Given the description of an element on the screen output the (x, y) to click on. 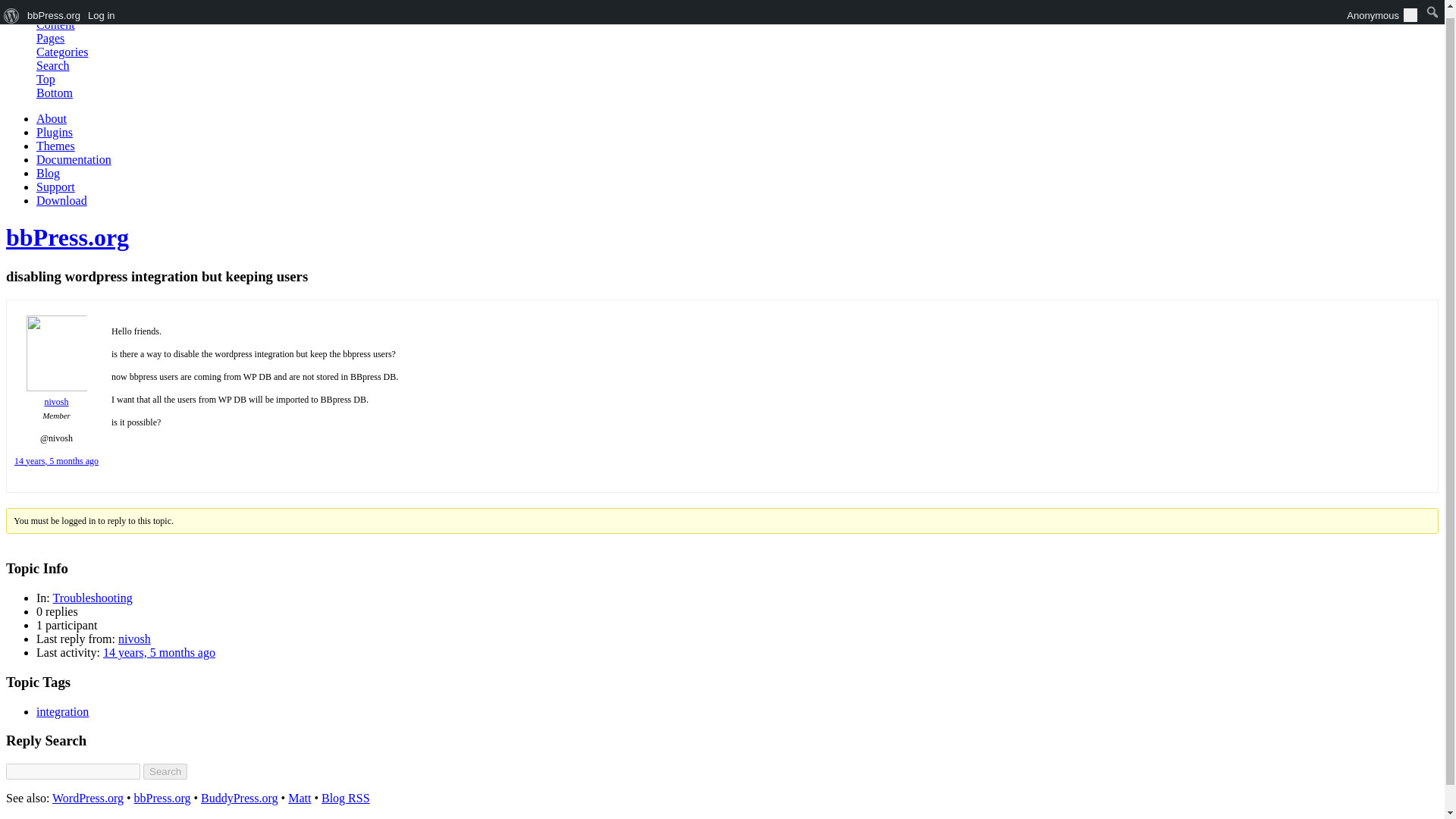
Themes (55, 145)
Content (55, 24)
BuddyPress.org (239, 797)
Search (52, 65)
Support (55, 186)
nivosh (134, 638)
WordPress.org (87, 797)
Troubleshooting (92, 597)
Search (164, 771)
Blog RSS (345, 797)
